Given the description of an element on the screen output the (x, y) to click on. 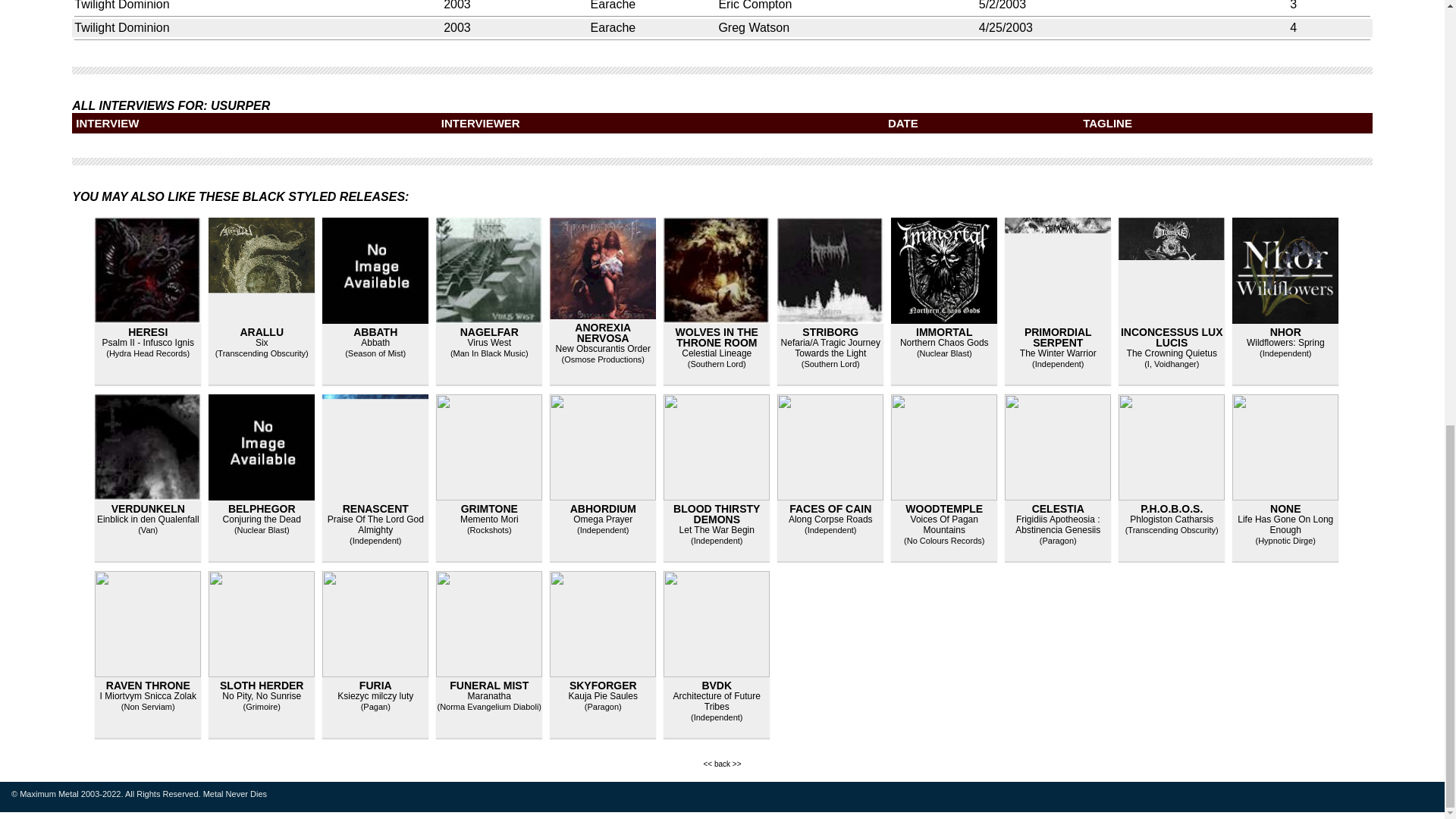
Twilight Dominion (121, 5)
HERESI (147, 331)
The Winter Warrior (1058, 353)
NAGELFAR (489, 331)
IMMORTAL (943, 331)
ARALLU (261, 331)
Celestial Lineage (716, 353)
Virus West (489, 342)
Twilight Dominion (121, 27)
ANOREXIA NERVOSA (602, 332)
Six (261, 342)
WOLVES IN THE THRONE ROOM (716, 336)
PRIMORDIAL SERPENT (1058, 336)
New Obscurantis Order (603, 348)
Psalm II - Infusco Ignis (147, 342)
